Given the description of an element on the screen output the (x, y) to click on. 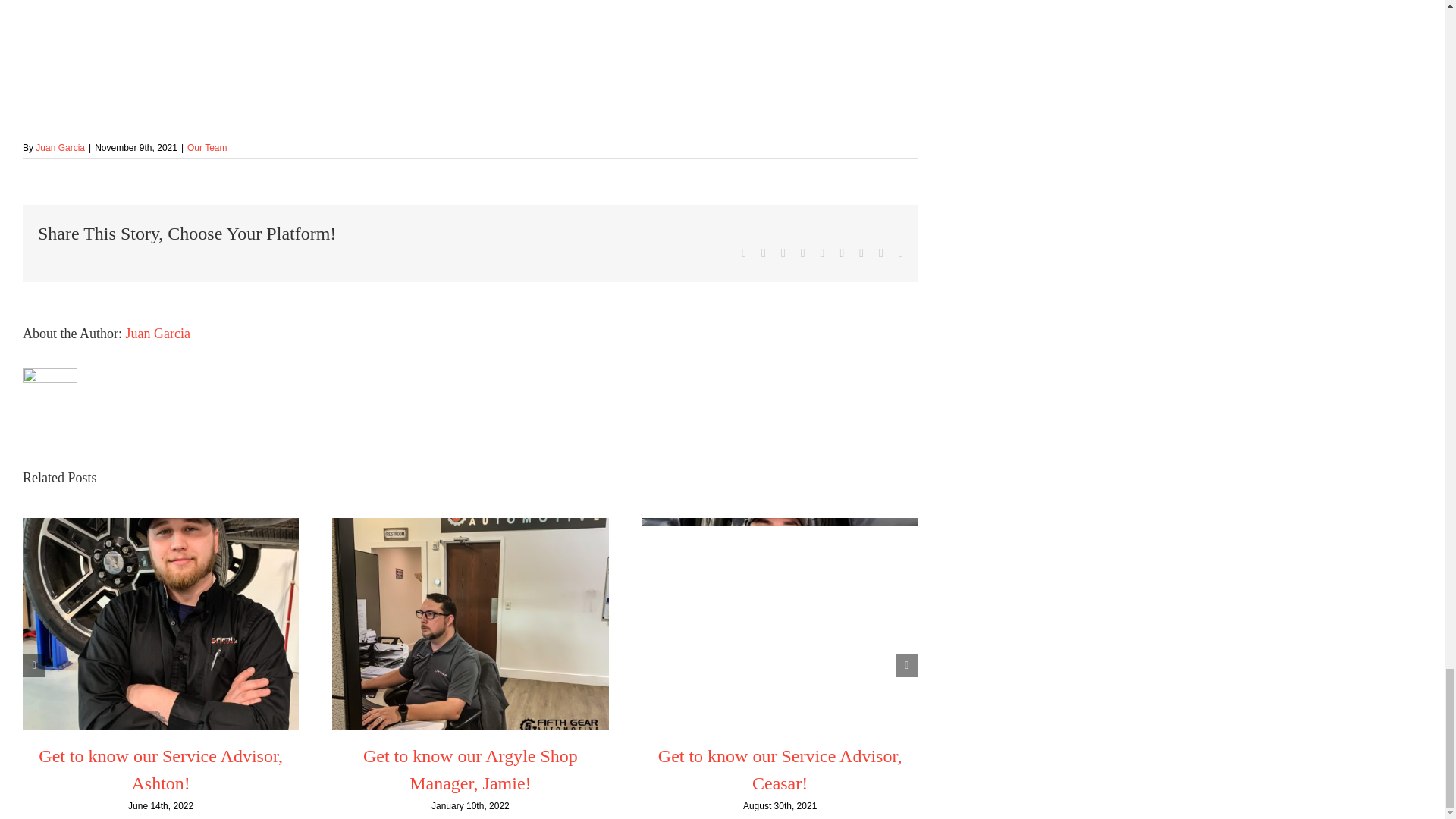
Let's meet cory! (440, 58)
Posts by Juan Garcia (59, 147)
Posts by Juan Garcia (157, 333)
Get to know our Service Advisor, Ashton! (160, 769)
